Given the description of an element on the screen output the (x, y) to click on. 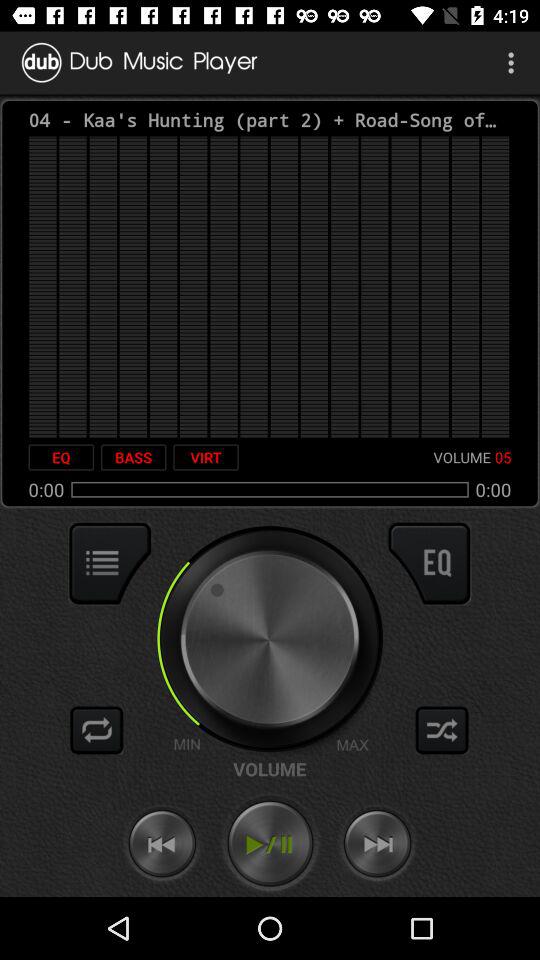
choose eq   icon (61, 457)
